Given the description of an element on the screen output the (x, y) to click on. 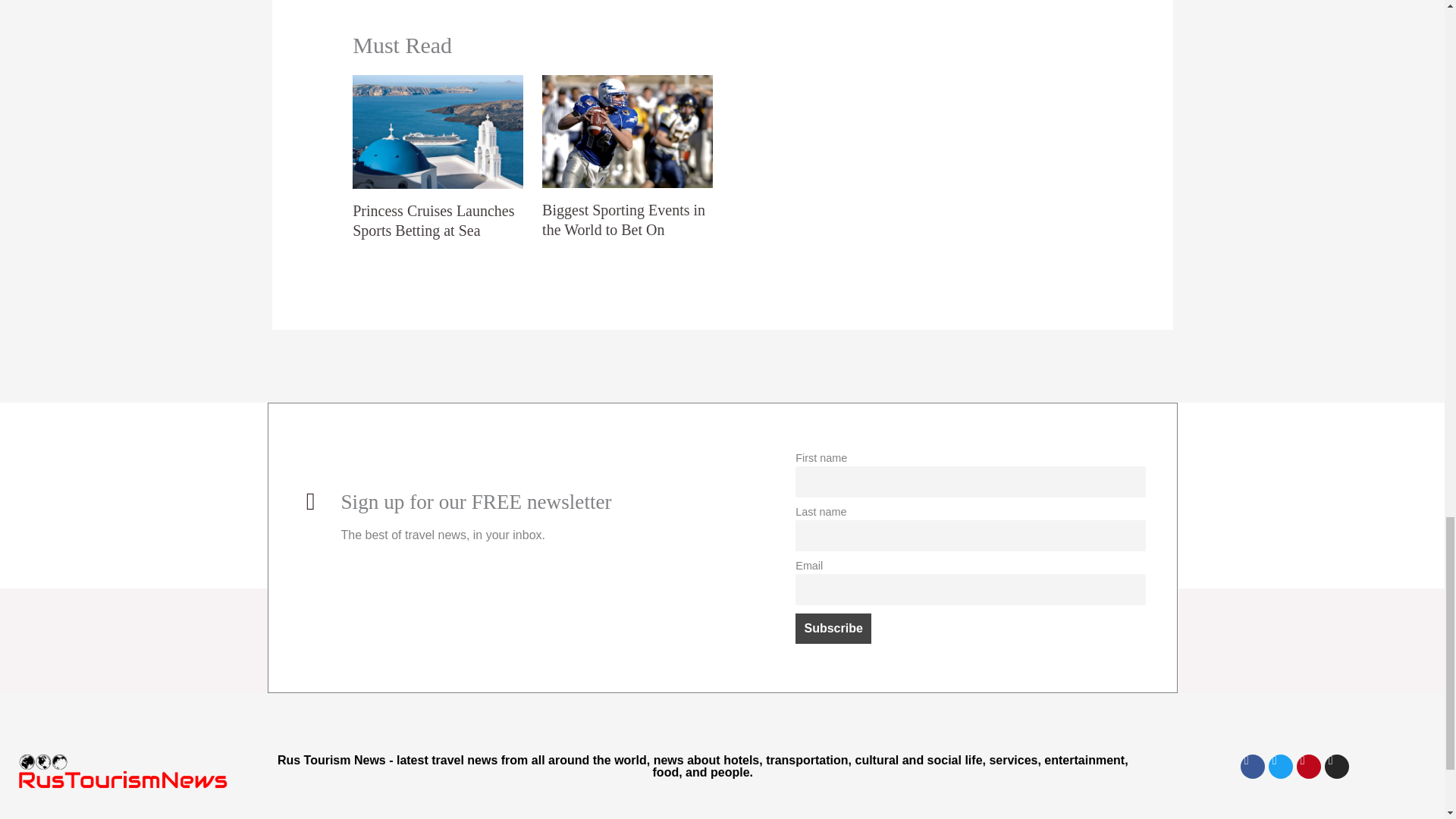
Subscribe (832, 628)
Biggest Sporting Events in the World to Bet On 2 (627, 131)
Princess Cruises Launches Sports Betting at Sea 1 (437, 132)
